Given the description of an element on the screen output the (x, y) to click on. 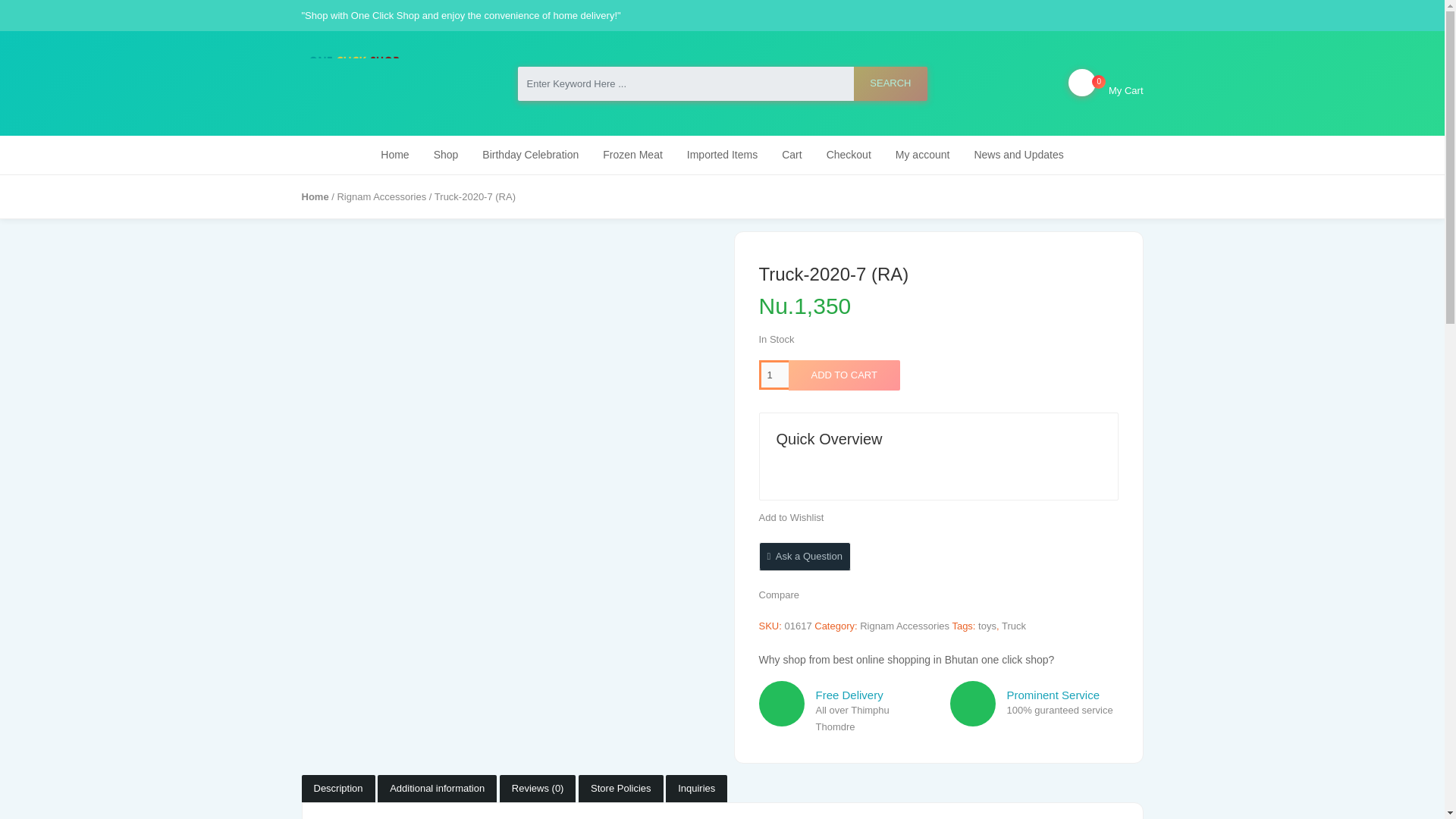
ADD TO CART (844, 375)
Frozen Meat (633, 154)
Inquiries (695, 788)
Checkout (848, 154)
Rignam Accessories (904, 625)
Home (315, 196)
Rignam Accessories (381, 196)
1 (772, 374)
Store Policies (620, 788)
  Ask a Question (804, 556)
Add to Wishlist (791, 517)
Compare (1105, 83)
Shop (777, 594)
Birthday Celebration (446, 154)
